Given the description of an element on the screen output the (x, y) to click on. 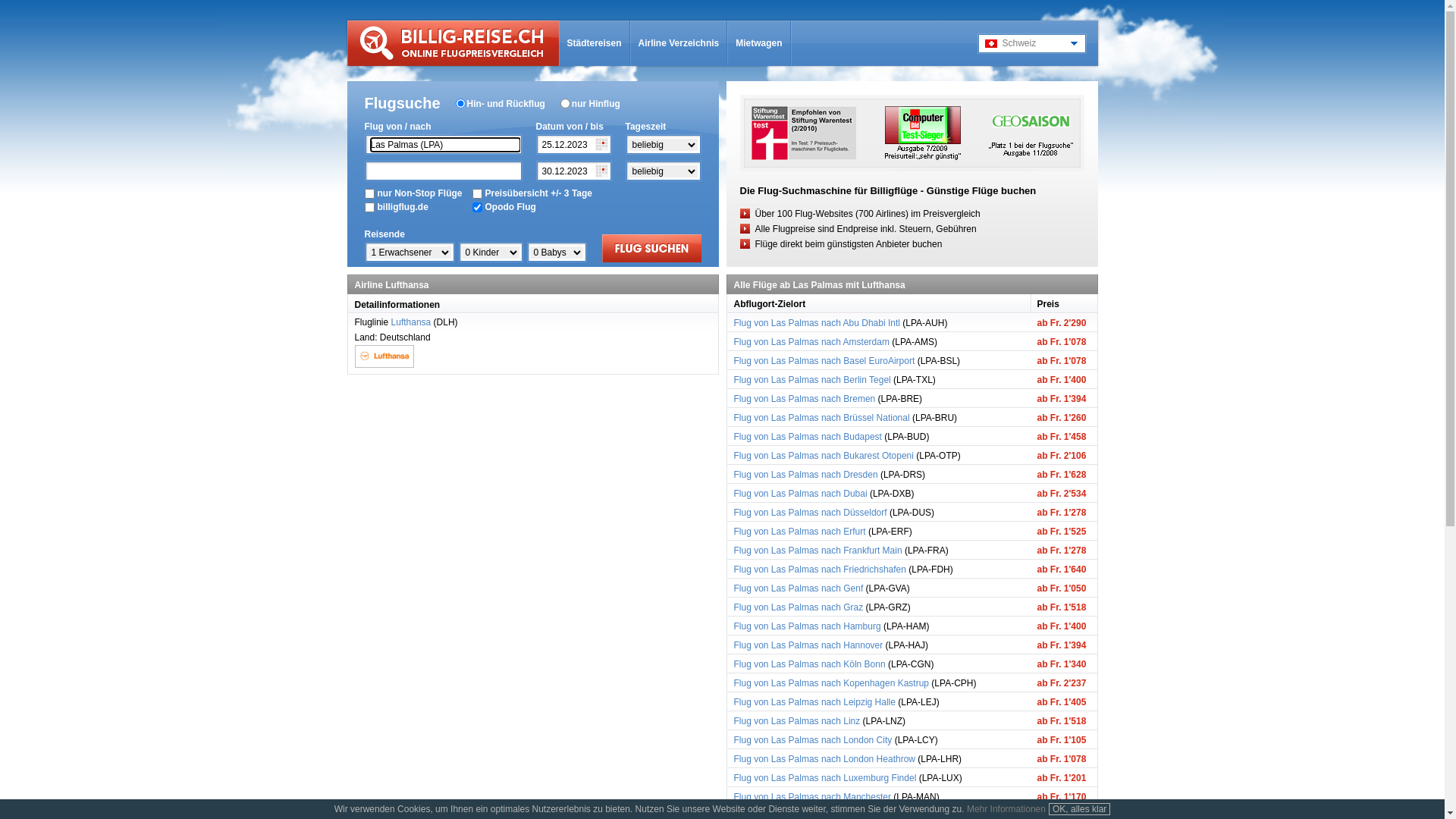
Flug von Las Palmas nach Abu Dhabi Intl Element type: text (817, 322)
Flug von Las Palmas nach Friedrichshafen Element type: text (820, 569)
Flug von Las Palmas nach Graz Element type: text (798, 607)
Flug von Las Palmas nach Frankfurt Main Element type: text (818, 550)
Mehr Informationen Element type: text (1005, 808)
Billig-Reise.ch Element type: text (453, 42)
Flug von Las Palmas nach Hannover Element type: text (808, 645)
Flug von Las Palmas nach Hamburg Element type: text (807, 626)
Flug von Las Palmas nach Basel EuroAirport Element type: text (824, 360)
Flug von Las Palmas nach Dresden Element type: text (806, 474)
Flug von Las Palmas nach London Heathrow Element type: text (824, 758)
Schweiz Element type: text (1033, 42)
Flug von Las Palmas nach Erfurt Element type: text (800, 531)
Flug von Las Palmas nach Bremen Element type: text (804, 398)
Flug von Las Palmas nach Luxemburg Findel Element type: text (825, 777)
Lufthansa Element type: text (411, 321)
Flug von Las Palmas nach Manchester Element type: text (812, 796)
Flug von Las Palmas nach Dubai Element type: text (800, 493)
Flug von Las Palmas nach Berlin Tegel Element type: text (812, 379)
Flug von Las Palmas nach Genf Element type: text (798, 588)
Flug von Las Palmas nach London City Element type: text (813, 739)
Flug von Las Palmas nach Bukarest Otopeni Element type: text (823, 455)
Flug von Las Palmas nach Budapest Element type: text (807, 436)
Flug von Las Palmas nach Linz Element type: text (797, 720)
Flug von Las Palmas nach Leipzig Halle Element type: text (814, 701)
Flug von Las Palmas nach Amsterdam Element type: text (811, 341)
OK, alles klar Element type: text (1079, 809)
Flug von Las Palmas nach Kopenhagen Kastrup Element type: text (831, 682)
